Given the description of an element on the screen output the (x, y) to click on. 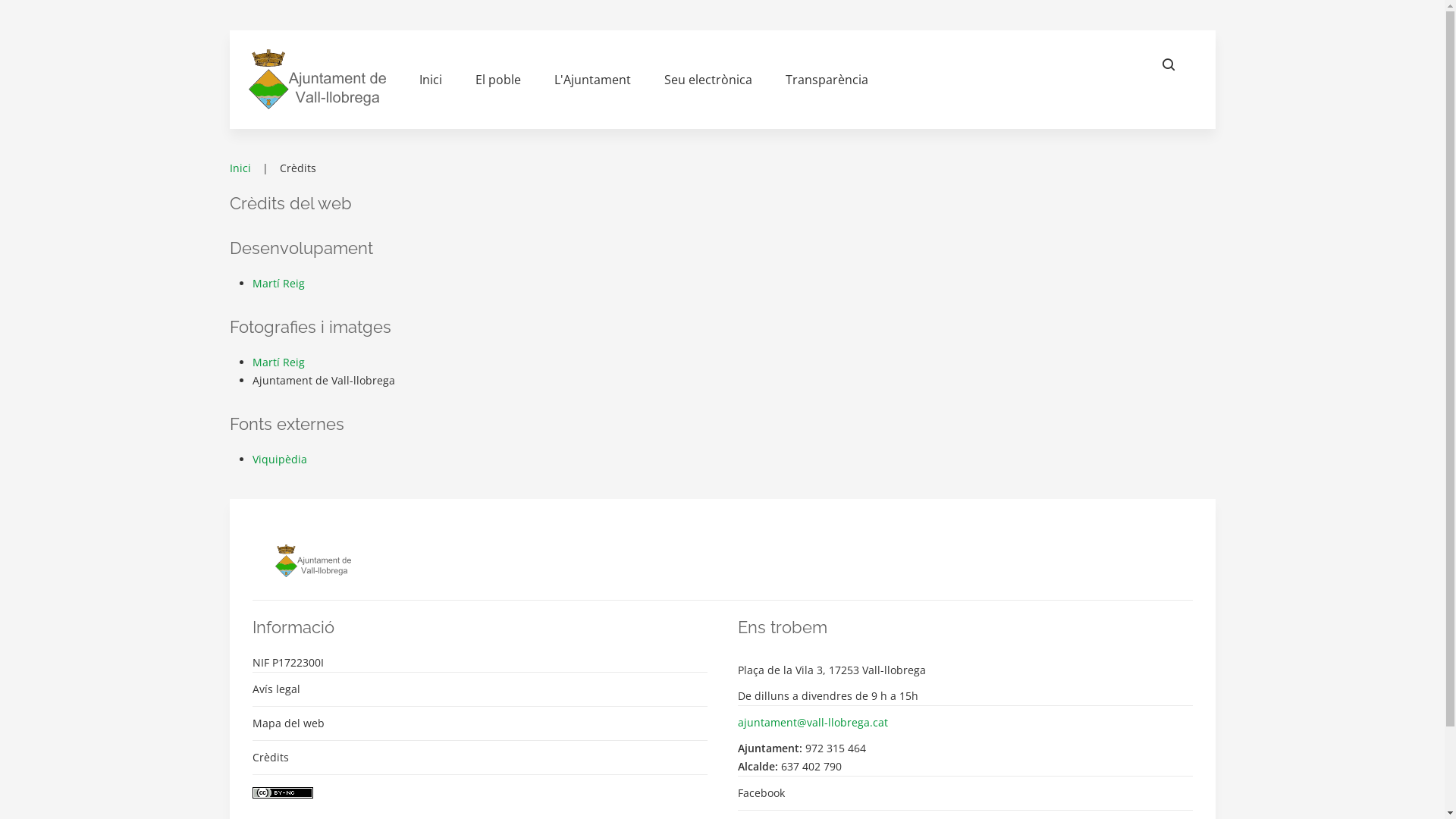
Facebook Element type: text (964, 792)
ajuntament@vall-llobrega.cat Element type: text (964, 722)
Inici Element type: text (430, 79)
Inici Element type: text (239, 168)
L'Ajuntament Element type: text (592, 79)
Mapa del web Element type: text (478, 723)
El poble Element type: text (497, 79)
ajuntament@vall-llobrega.cat Element type: text (812, 722)
